Given the description of an element on the screen output the (x, y) to click on. 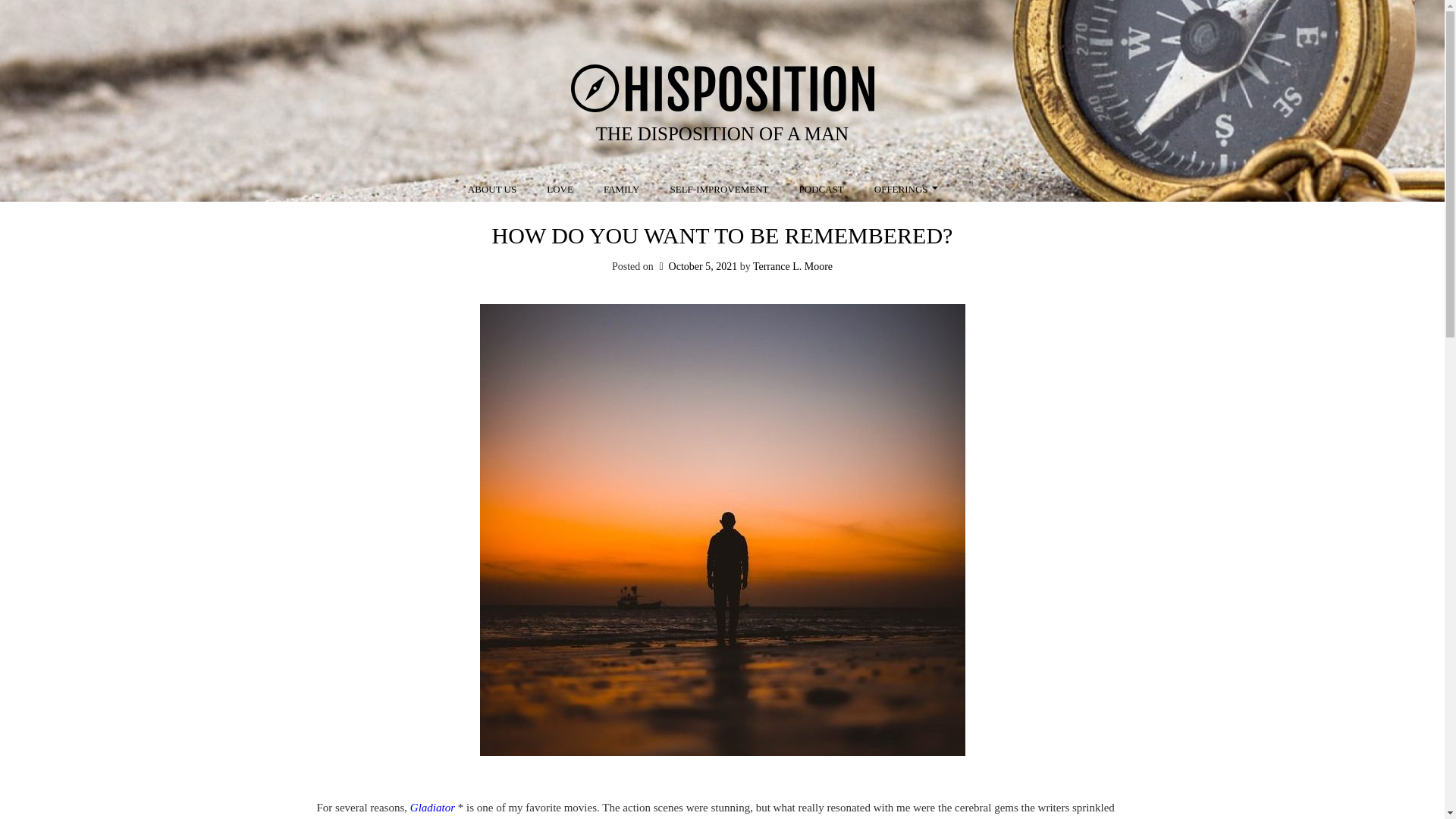
PODCAST (821, 189)
SELF-IMPROVEMENT (719, 189)
ABOUT US (491, 189)
Terrance L. Moore (792, 266)
October 5, 2021 (696, 266)
FAMILY (621, 189)
OFFERINGS (907, 189)
LOVE (559, 189)
Gladiator (432, 807)
